Given the description of an element on the screen output the (x, y) to click on. 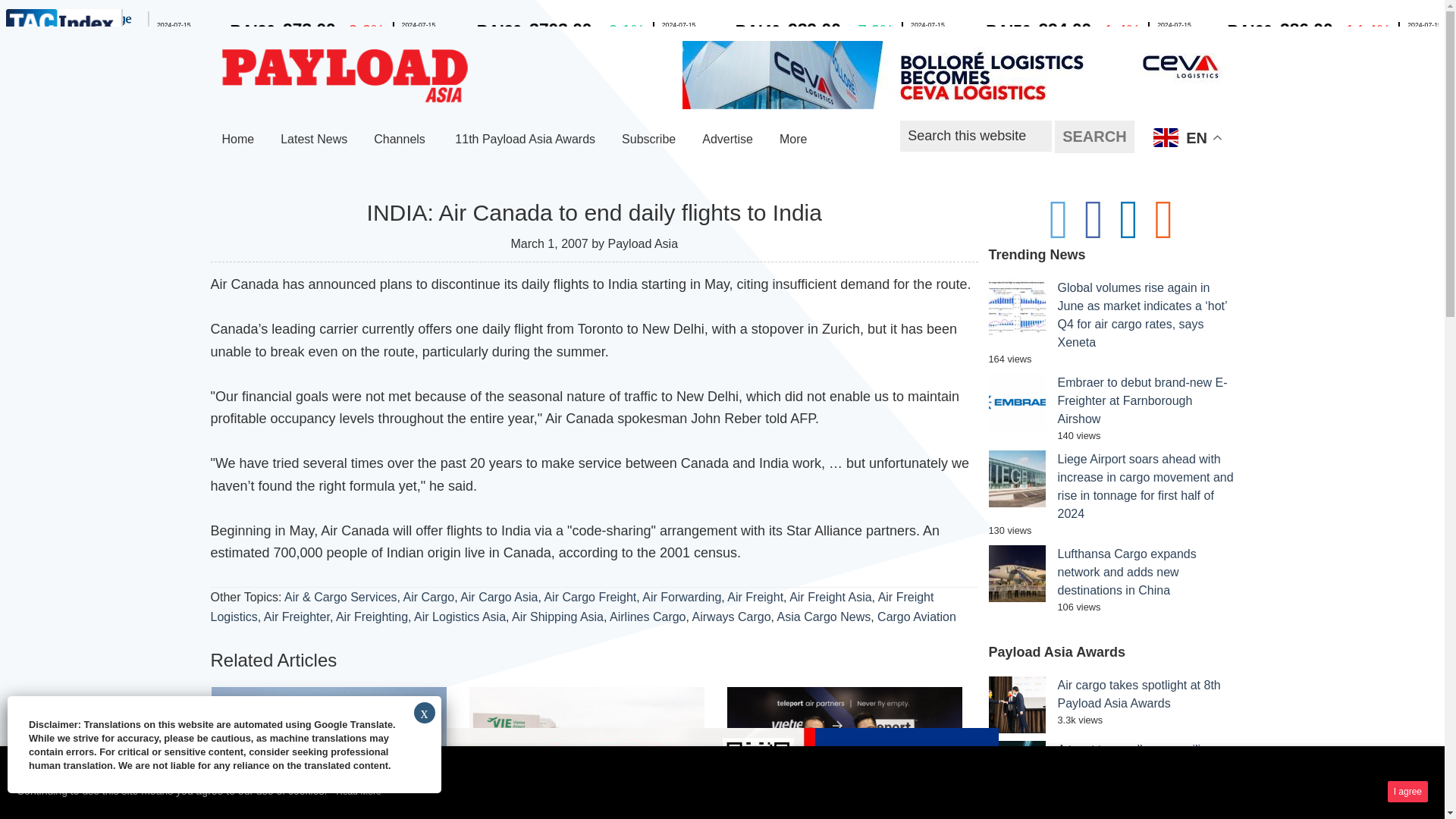
Advertise (727, 139)
Payload Asia (344, 75)
Search (1094, 136)
Home (238, 139)
11th Payload Asia Awards (525, 139)
Latest News (313, 139)
Search (1094, 136)
Search (1094, 136)
More  (795, 139)
Channels  (400, 139)
Subscribe (648, 139)
